Given the description of an element on the screen output the (x, y) to click on. 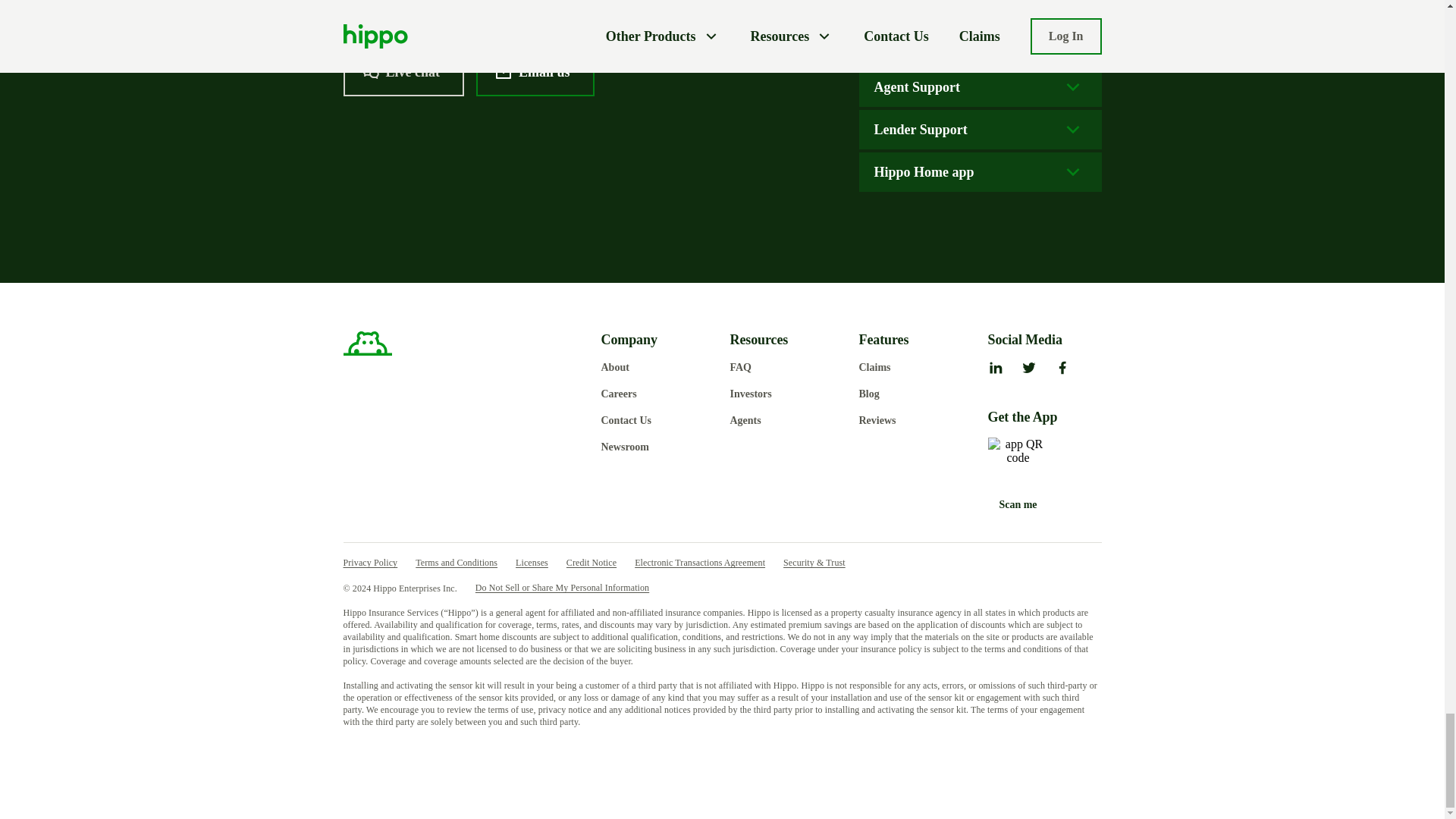
Twitter (1027, 369)
Facebook (1061, 369)
LinkedIn (995, 369)
